Given the description of an element on the screen output the (x, y) to click on. 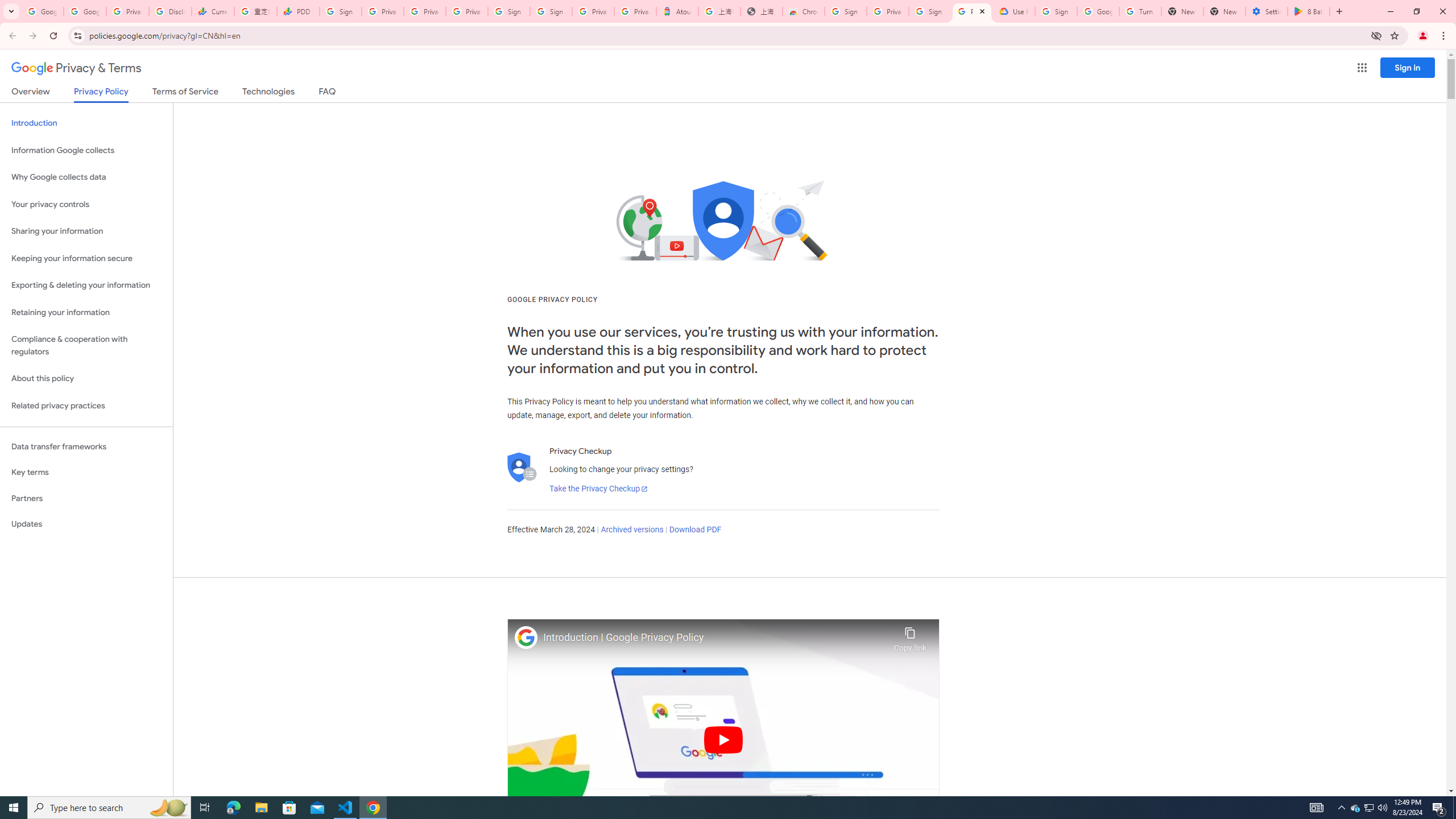
Sign in - Google Accounts (509, 11)
Compliance & cooperation with regulators (86, 345)
Sign in - Google Accounts (340, 11)
Sign in - Google Accounts (550, 11)
Retaining your information (86, 312)
Download PDF (695, 529)
Sign in - Google Accounts (930, 11)
